Given the description of an element on the screen output the (x, y) to click on. 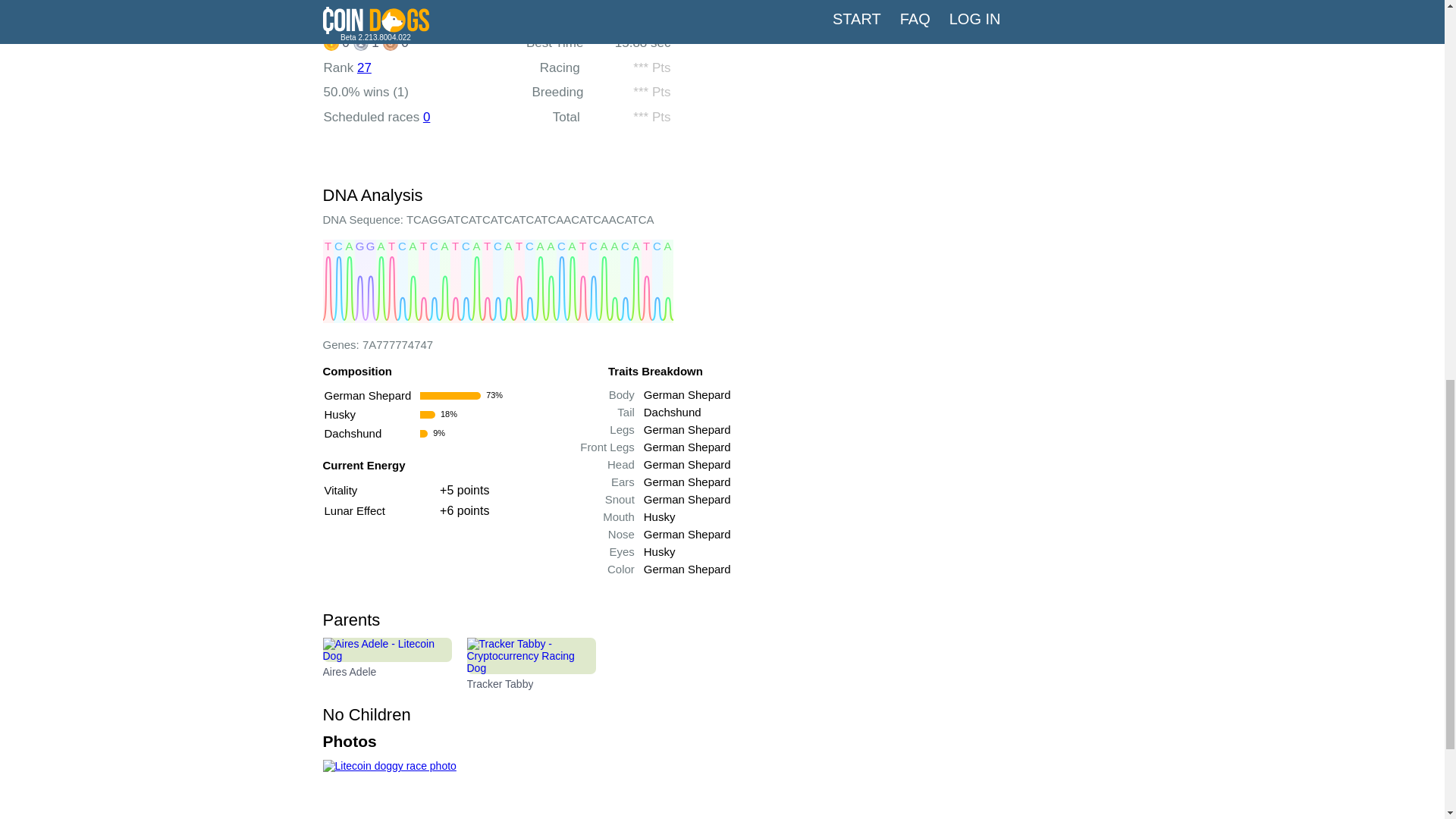
Aires Adele (387, 664)
0 (426, 116)
Tracker Tabby (531, 664)
27 (363, 67)
